Given the description of an element on the screen output the (x, y) to click on. 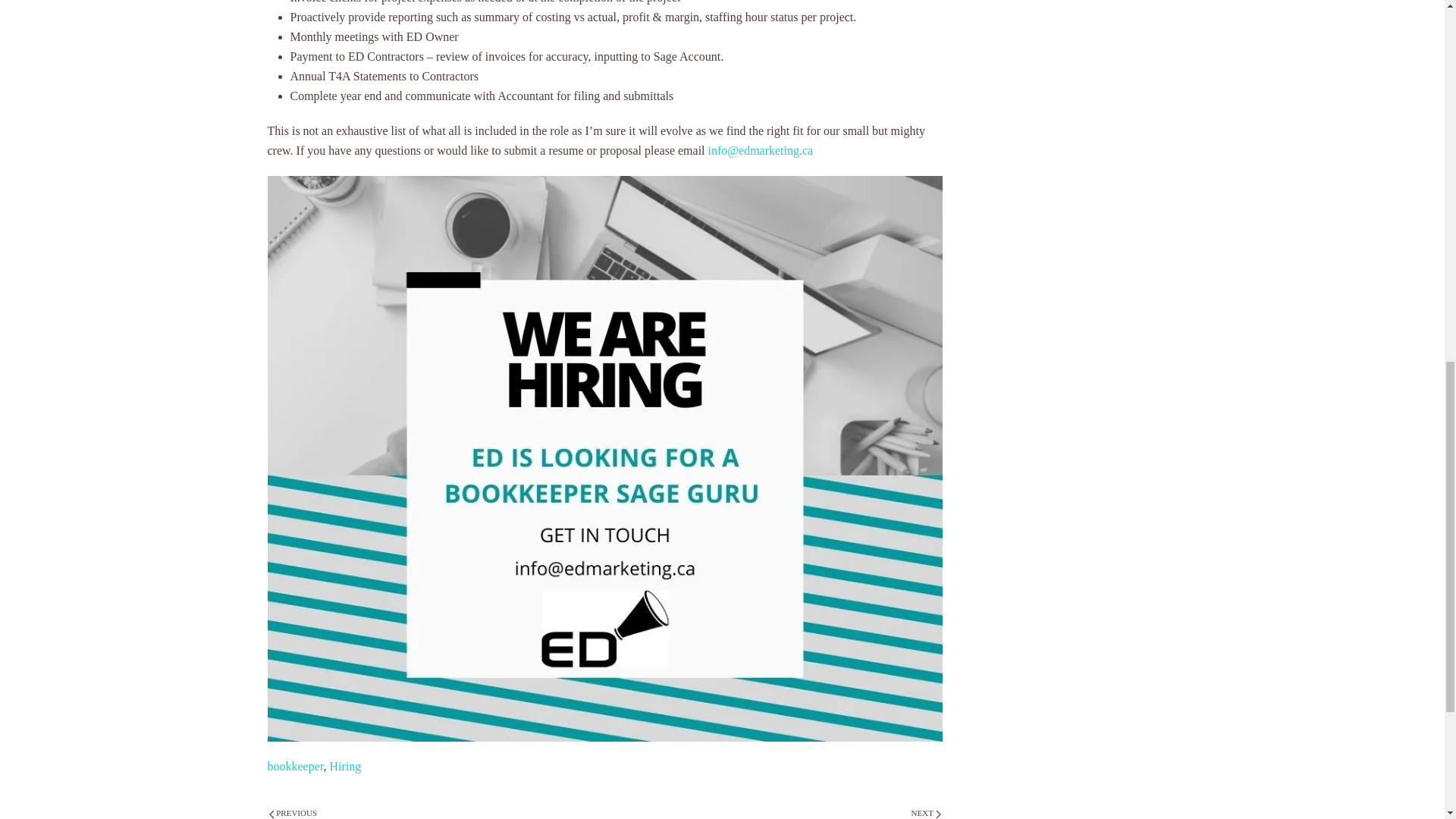
NEXT (926, 812)
Hiring (345, 766)
PREVIOUS (292, 812)
bookkeeper (294, 766)
